Given the description of an element on the screen output the (x, y) to click on. 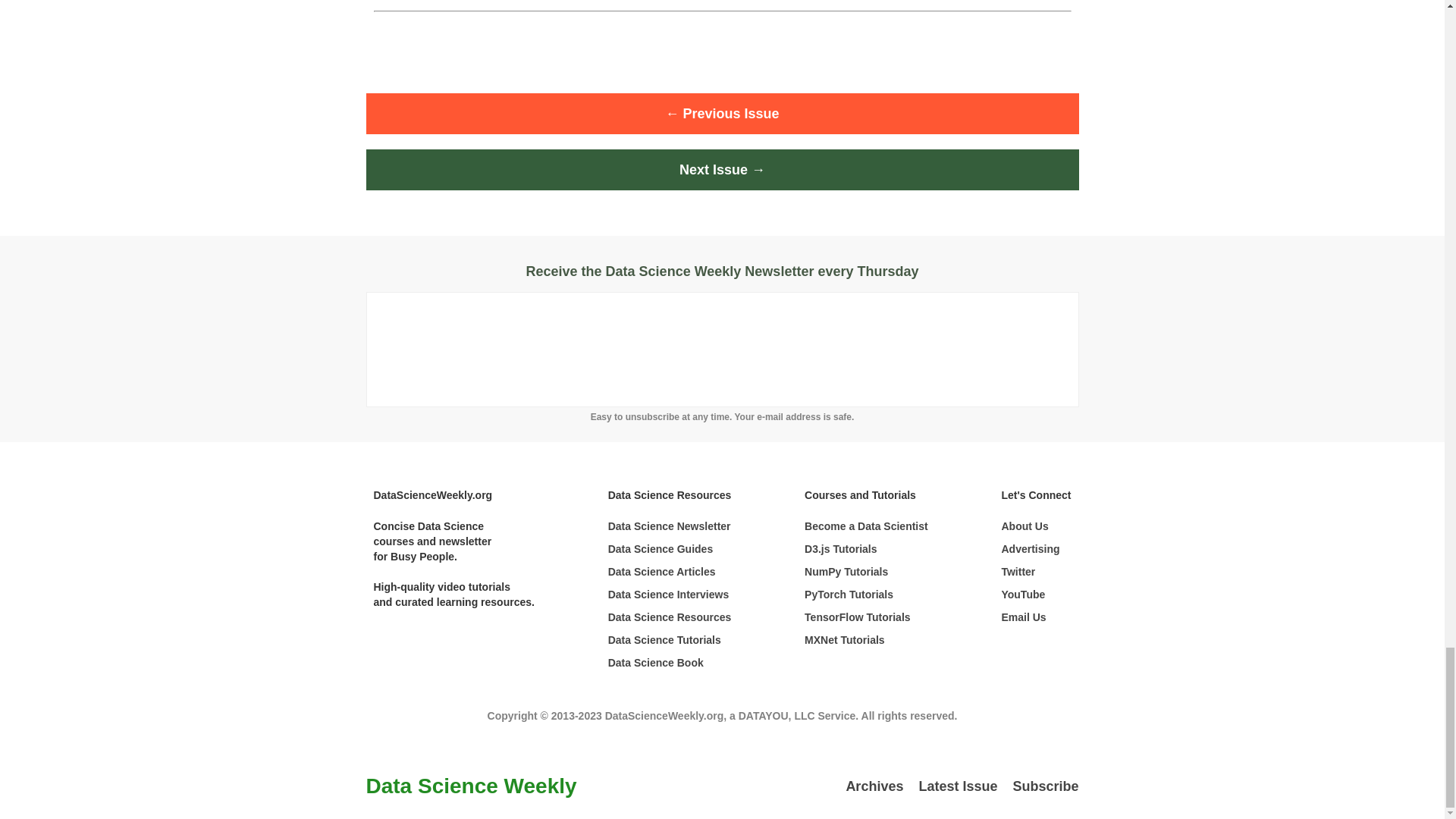
D3.js Tutorials (866, 548)
Become a Data Scientist (866, 525)
Data Science Tutorials (670, 639)
Data Science Book (670, 662)
Data Science Guides (670, 548)
NumPy Tutorials (866, 571)
Data Science Interviews (670, 594)
Data Science Articles (670, 571)
Data Science Resources (670, 616)
PyTorch Tutorials (866, 594)
